Given the description of an element on the screen output the (x, y) to click on. 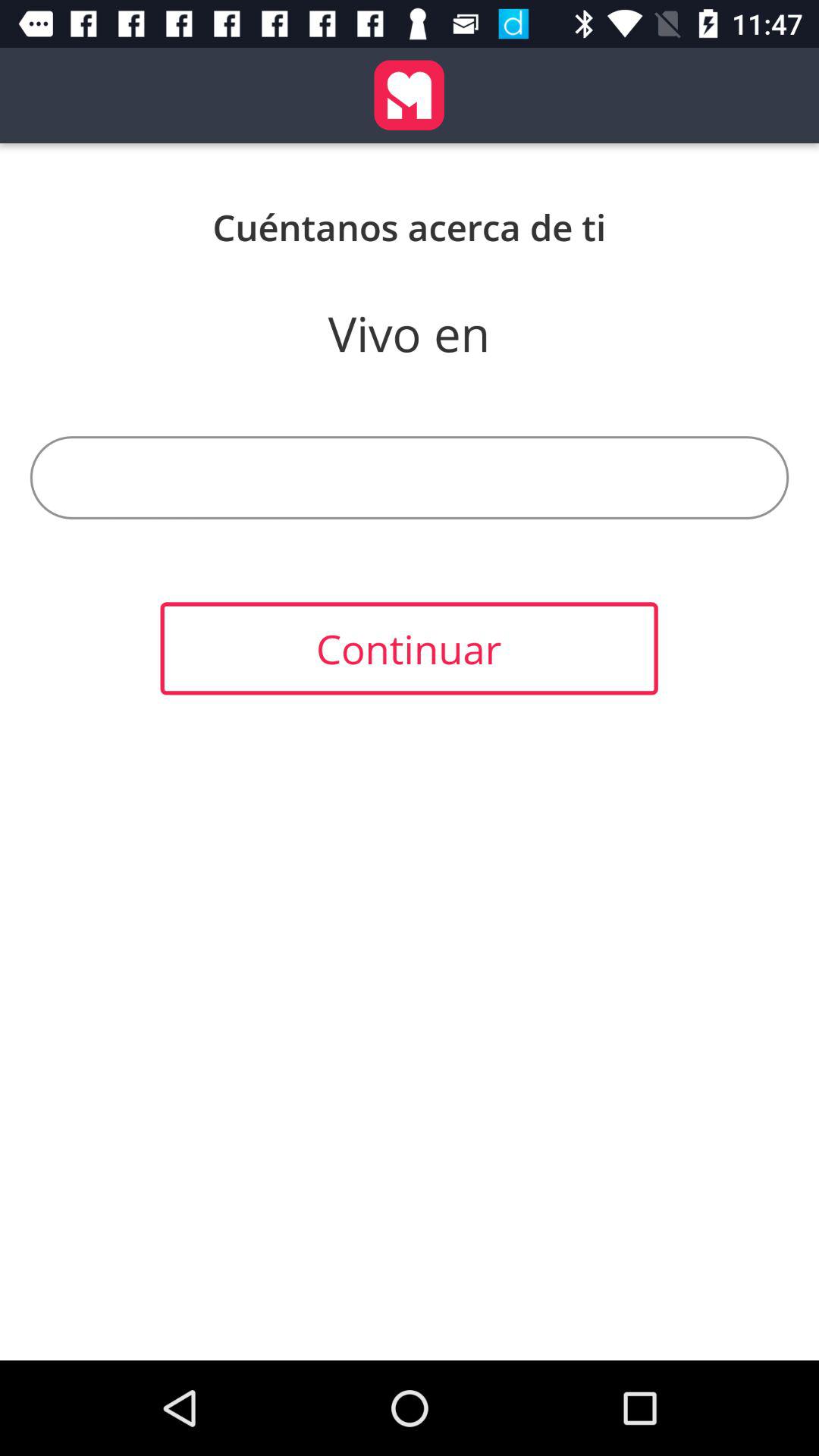
turn on continuar at the center (409, 648)
